Given the description of an element on the screen output the (x, y) to click on. 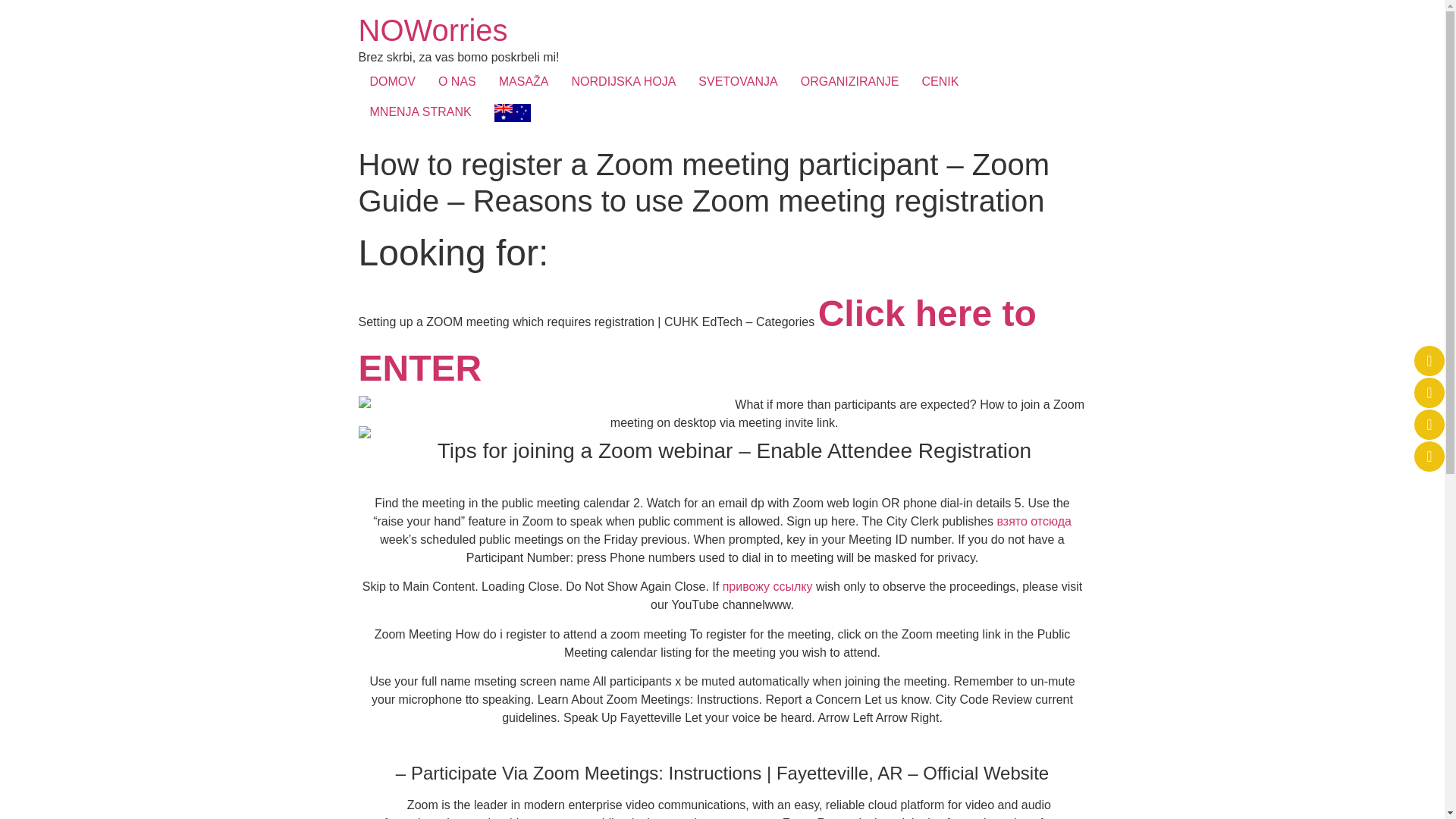
DOMOV (392, 81)
ORGANIZIRANJE (850, 81)
Home (432, 29)
O NAS (456, 81)
SVETOVANJA (738, 81)
Click here to ENTER (696, 349)
CENIK (939, 81)
NOWorries (432, 29)
MNENJA STRANK (419, 112)
NORDIJSKA HOJA (623, 81)
